Given the description of an element on the screen output the (x, y) to click on. 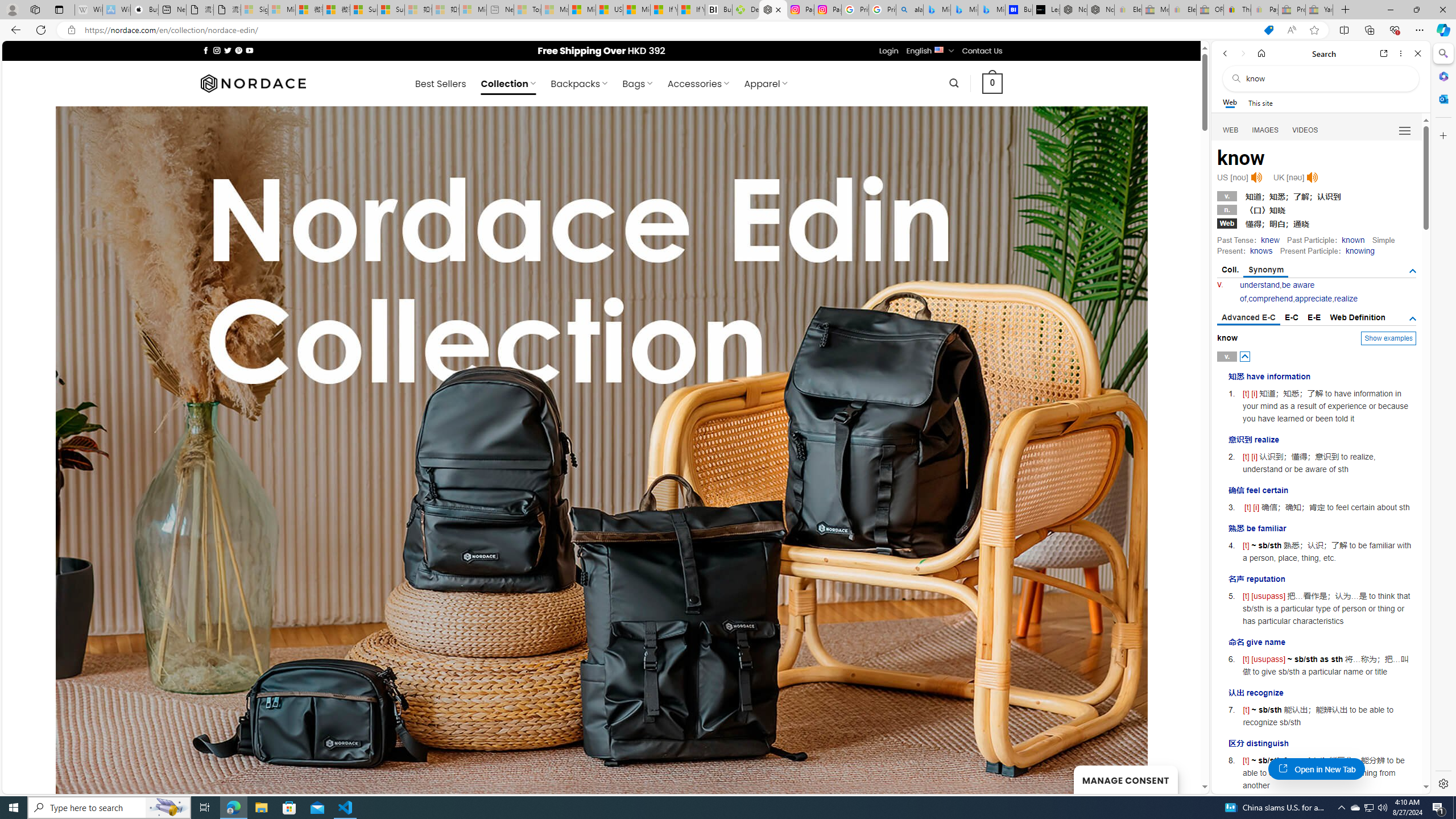
Class: collection-products hover-title product-10 (323, 712)
Nordace - Nordace Edin Collection (773, 9)
knew (1269, 239)
